Given the description of an element on the screen output the (x, y) to click on. 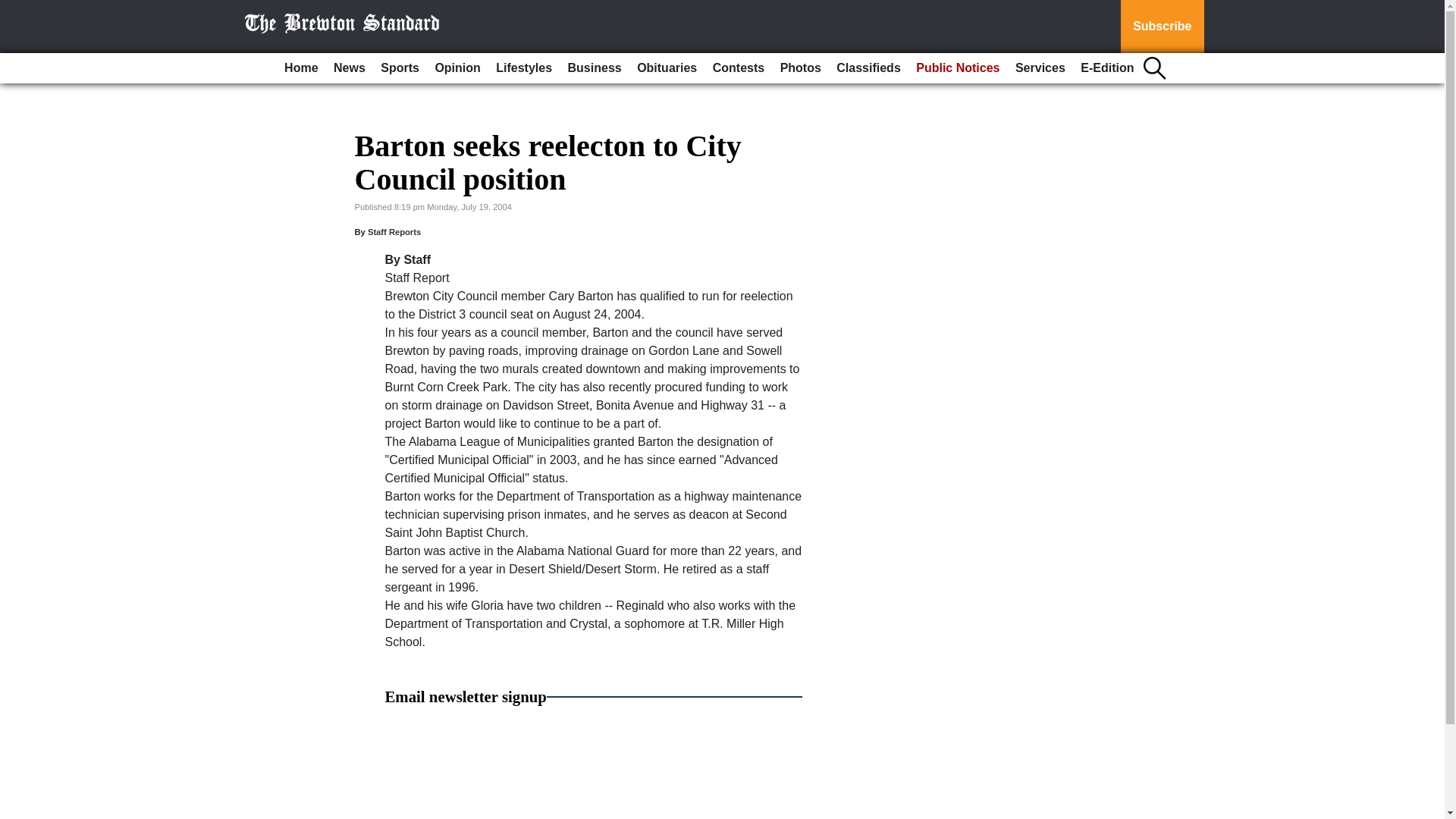
Services (1040, 68)
Public Notices (958, 68)
News (349, 68)
Photos (800, 68)
Obituaries (666, 68)
Subscribe (1162, 26)
E-Edition (1107, 68)
Go (13, 9)
Classifieds (867, 68)
Business (594, 68)
